Given the description of an element on the screen output the (x, y) to click on. 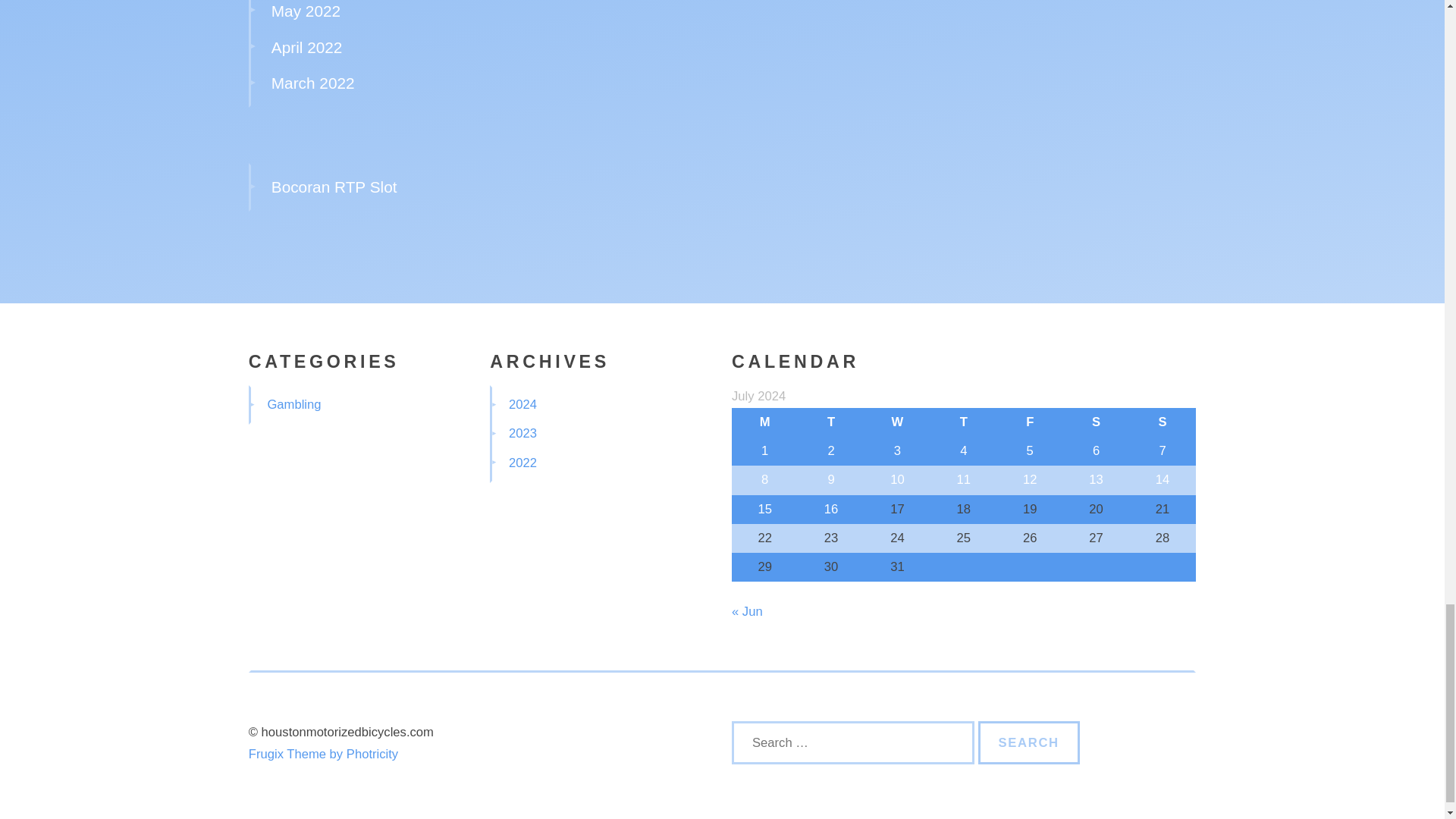
Tuesday (830, 421)
Sunday (1162, 421)
Monday (764, 421)
Friday (1029, 421)
Wednesday (897, 421)
Search (1029, 742)
Thursday (962, 421)
Search (1029, 742)
Saturday (1095, 421)
